Given the description of an element on the screen output the (x, y) to click on. 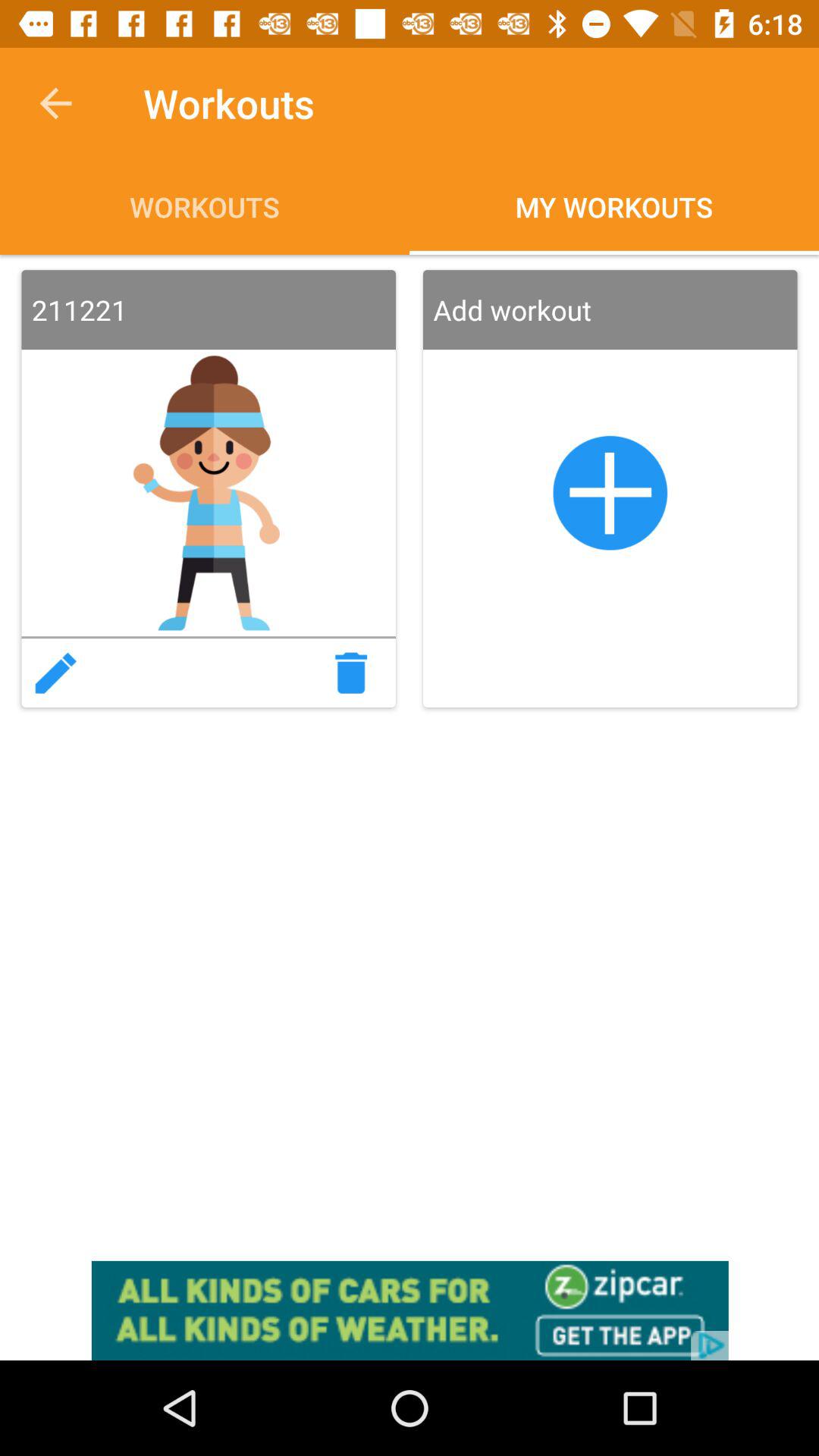
trash (355, 672)
